Given the description of an element on the screen output the (x, y) to click on. 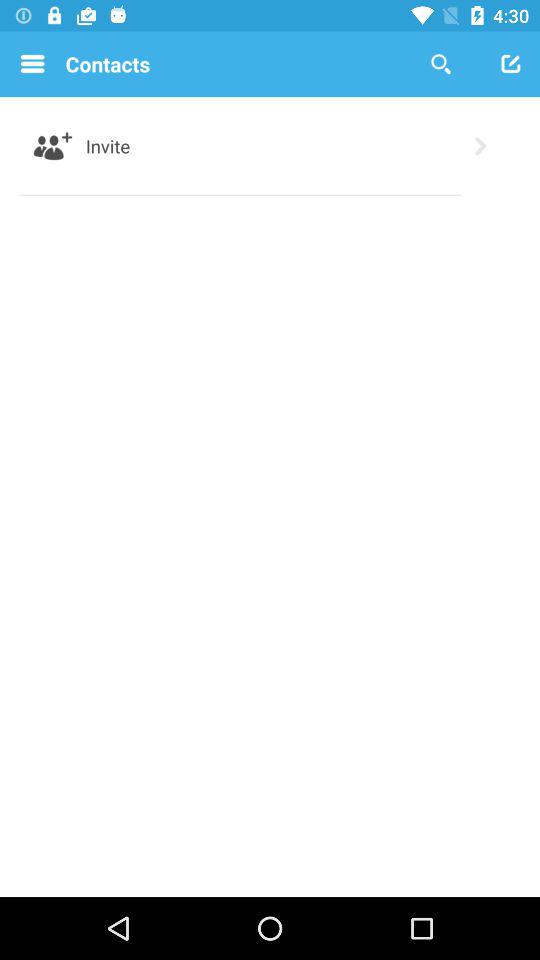
click the item below the contacts (107, 145)
